Given the description of an element on the screen output the (x, y) to click on. 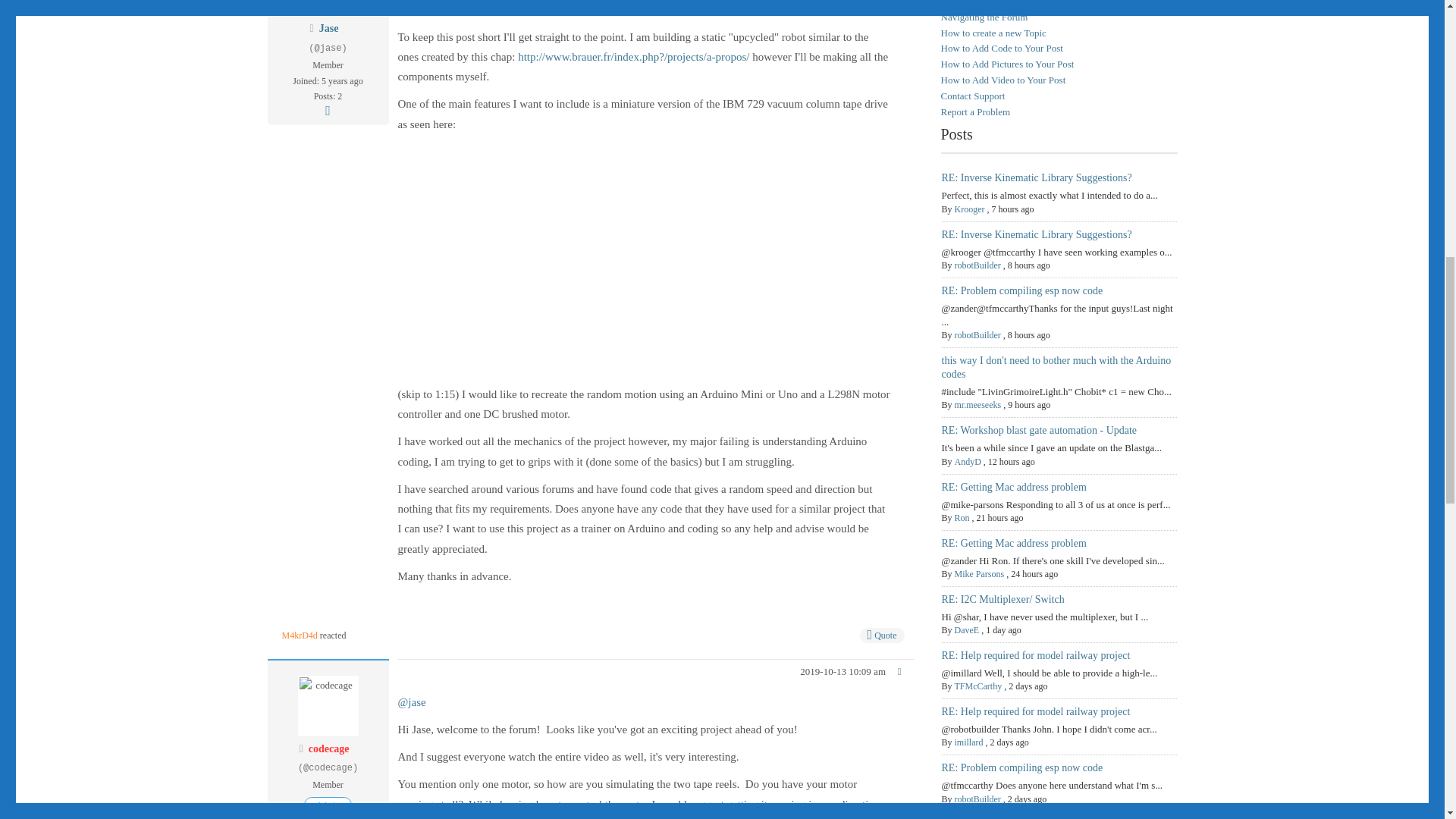
Jase (328, 28)
Jase (328, 28)
codecage (328, 748)
M4krD4d (299, 634)
